Given the description of an element on the screen output the (x, y) to click on. 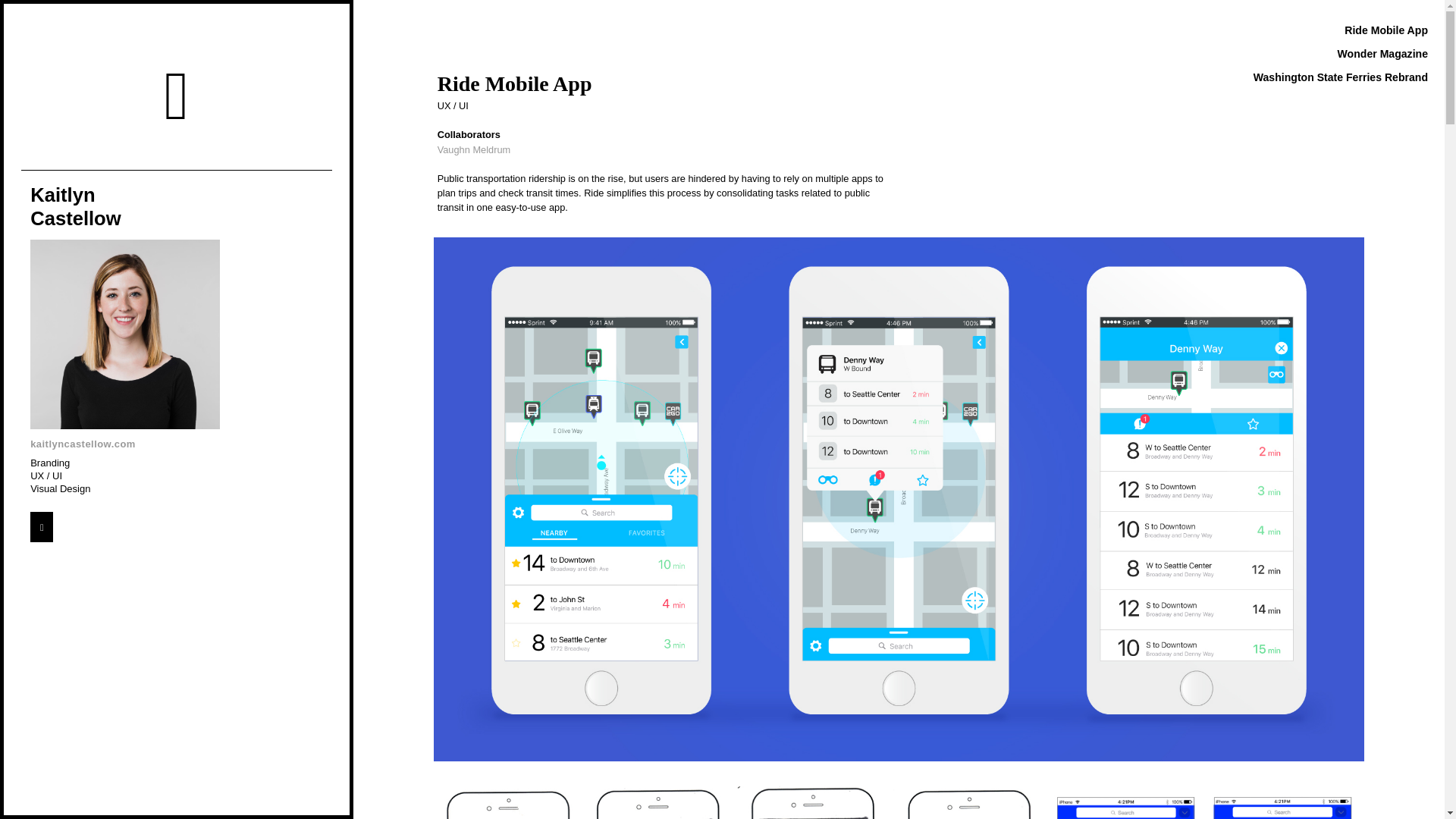
kaitlyncastellow.com (189, 444)
Vaughn Meldrum (474, 149)
